Given the description of an element on the screen output the (x, y) to click on. 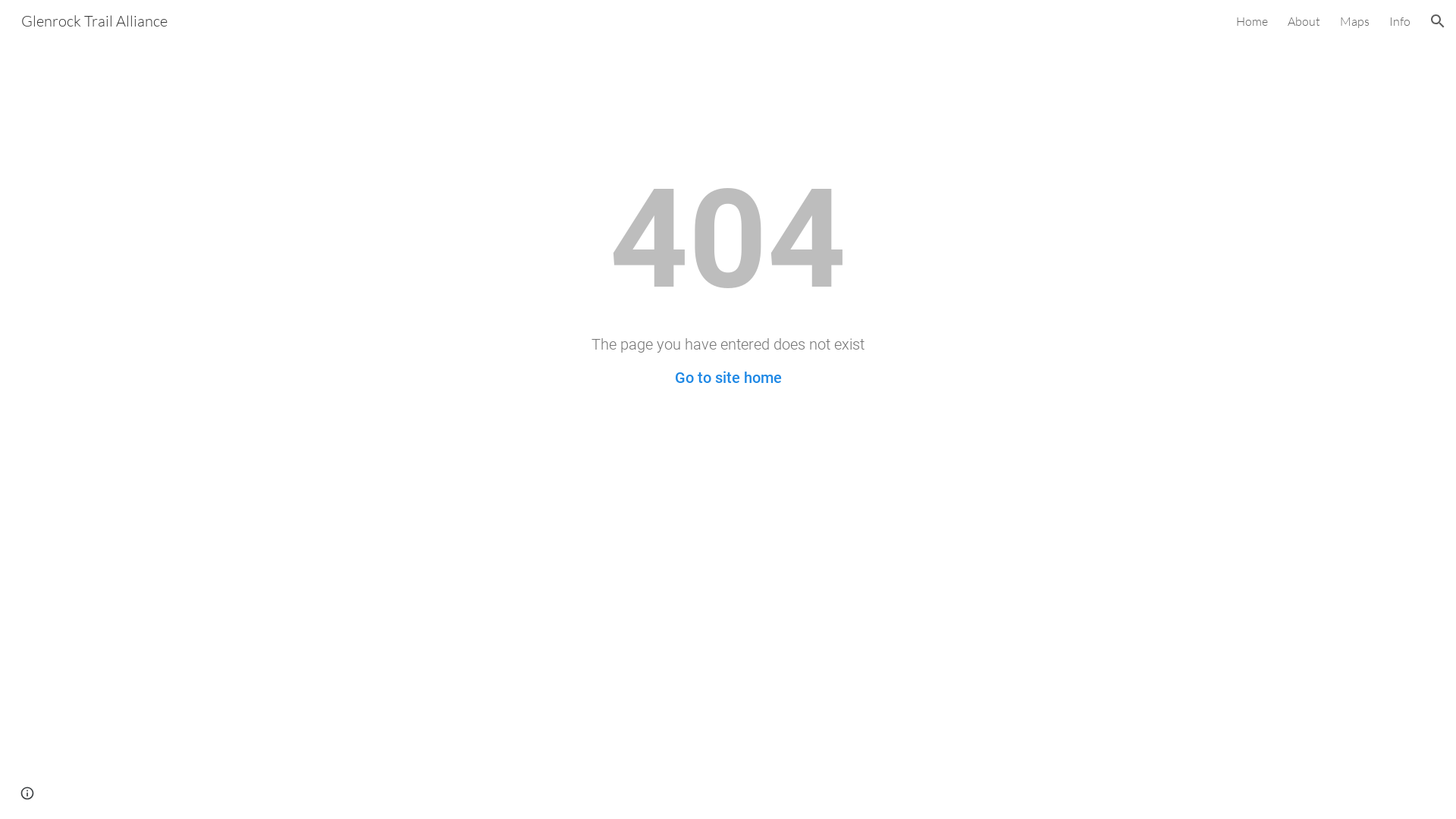
Go to site home Element type: text (727, 377)
Home Element type: text (1251, 20)
Maps Element type: text (1354, 20)
Glenrock Trail Alliance Element type: text (94, 18)
Info Element type: text (1399, 20)
About Element type: text (1303, 20)
